Given the description of an element on the screen output the (x, y) to click on. 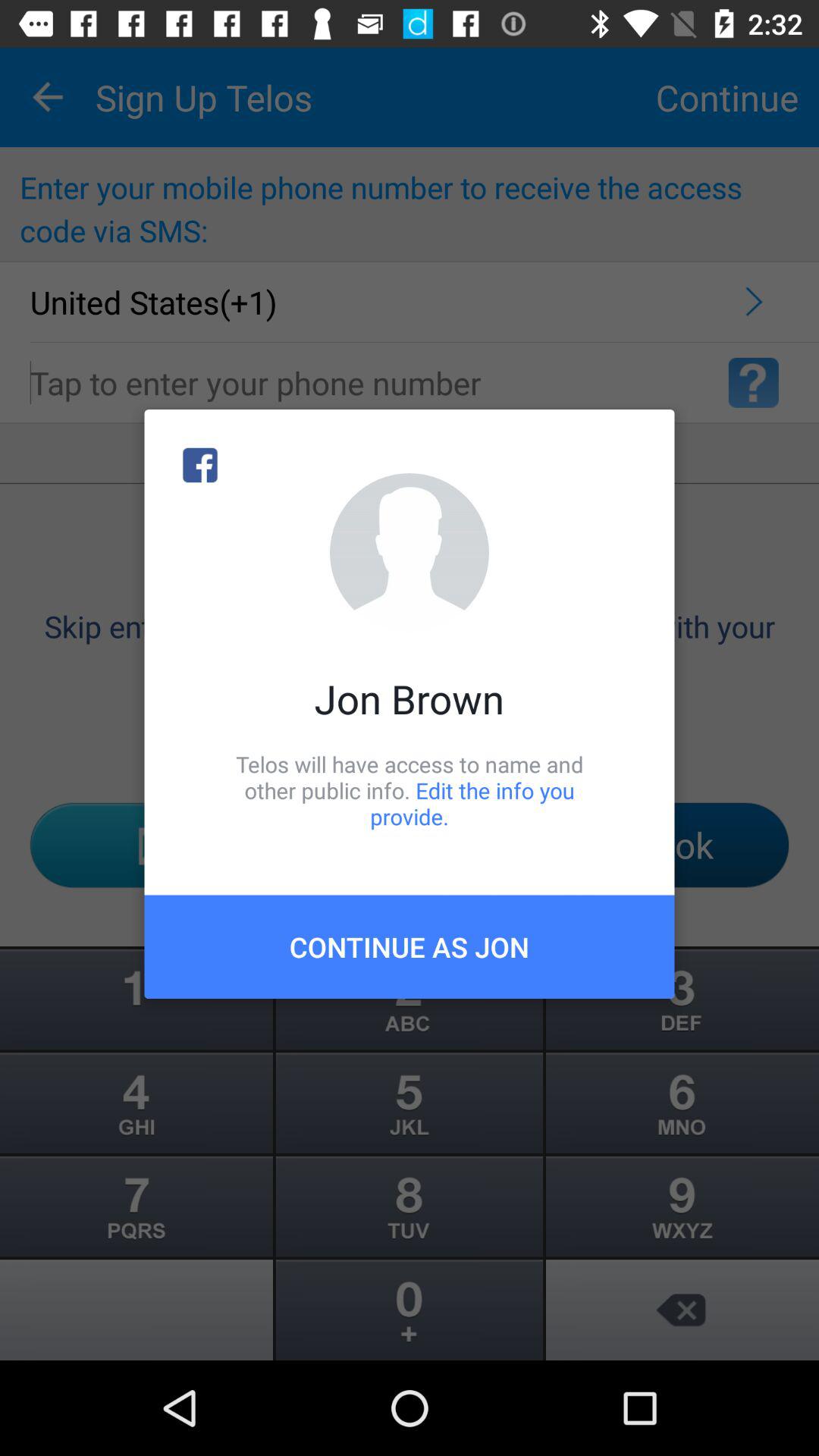
launch icon below the jon brown (409, 790)
